Given the description of an element on the screen output the (x, y) to click on. 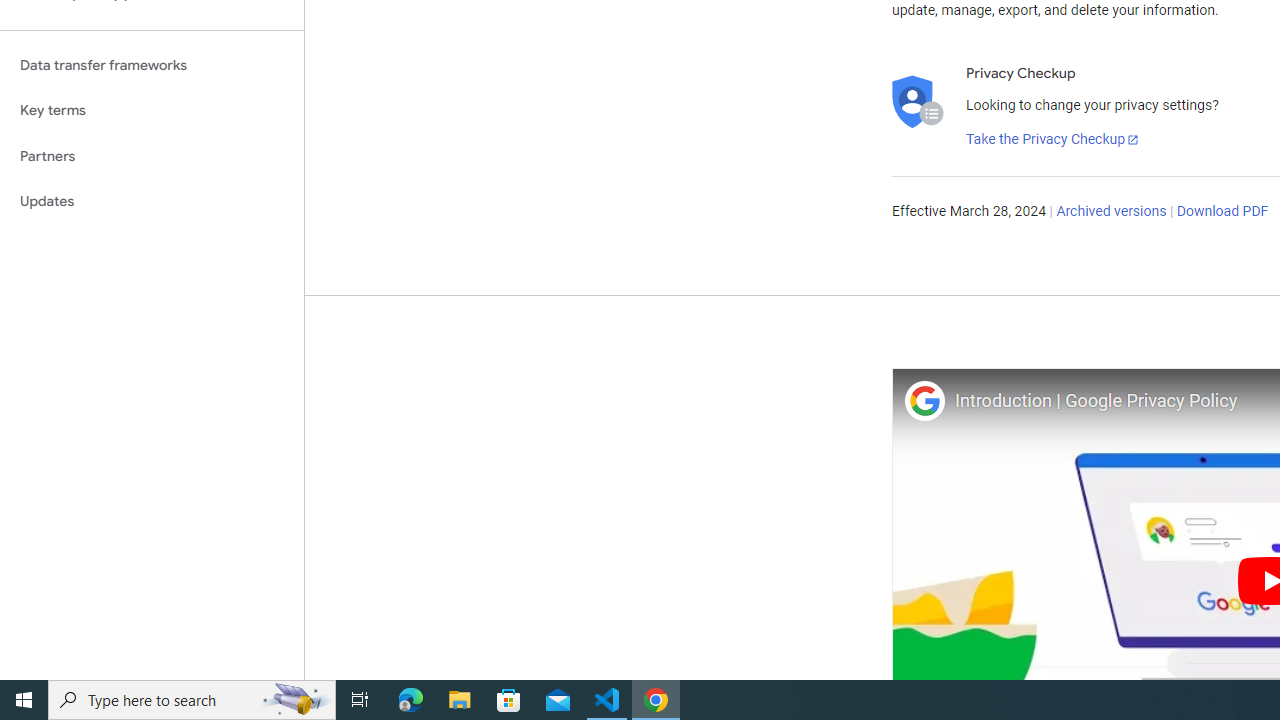
Photo image of Google (924, 400)
Take the Privacy Checkup (1053, 140)
